Given the description of an element on the screen output the (x, y) to click on. 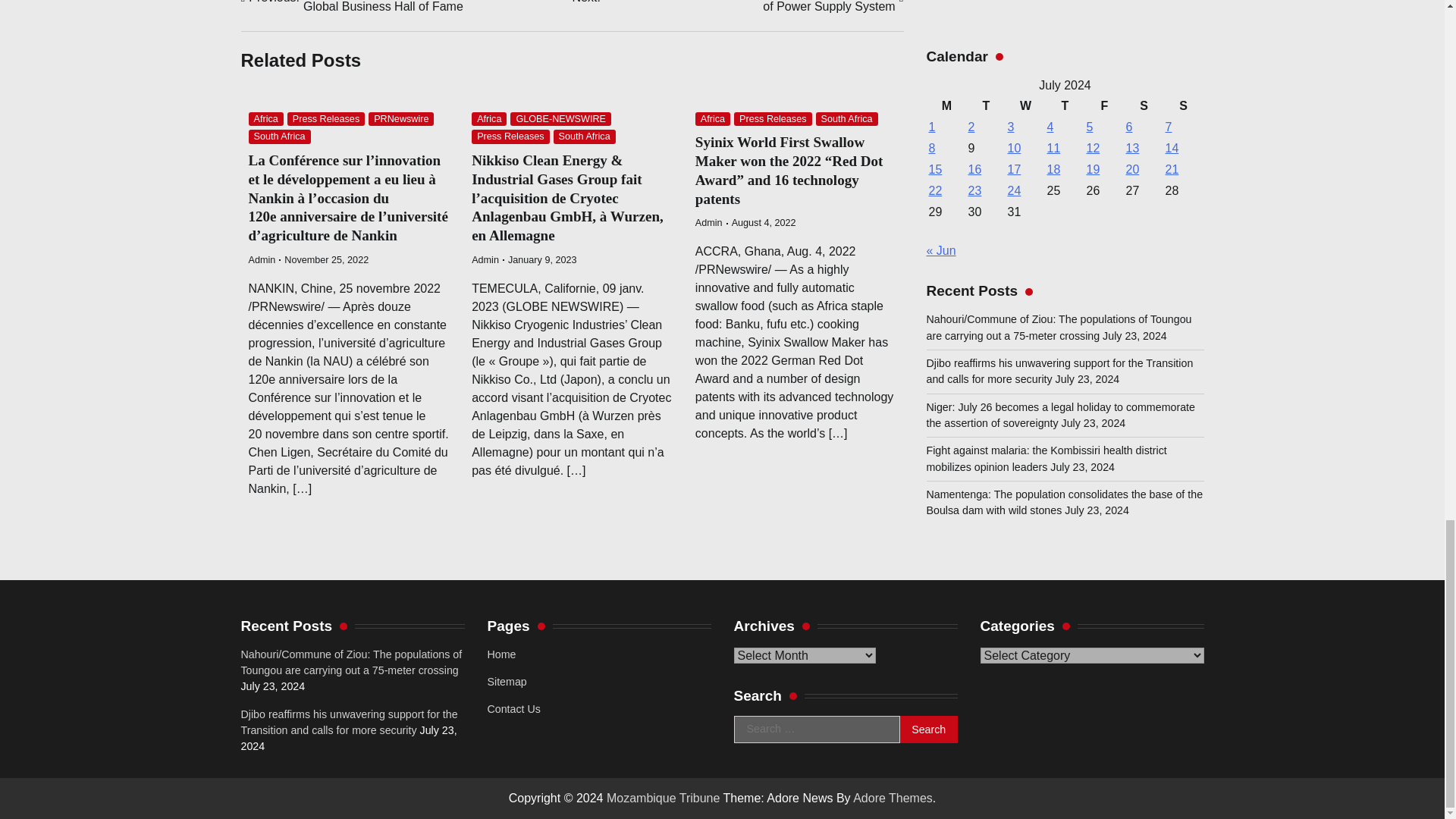
South Africa (584, 136)
Africa (488, 119)
Search (928, 728)
PRNewswire (400, 119)
Admin (485, 259)
South Africa (279, 136)
Search (928, 728)
Admin (262, 259)
Press Releases (509, 136)
Africa (265, 119)
Press Releases (771, 119)
GLOBE-NEWSWIRE (561, 119)
Press Releases (325, 119)
